Given the description of an element on the screen output the (x, y) to click on. 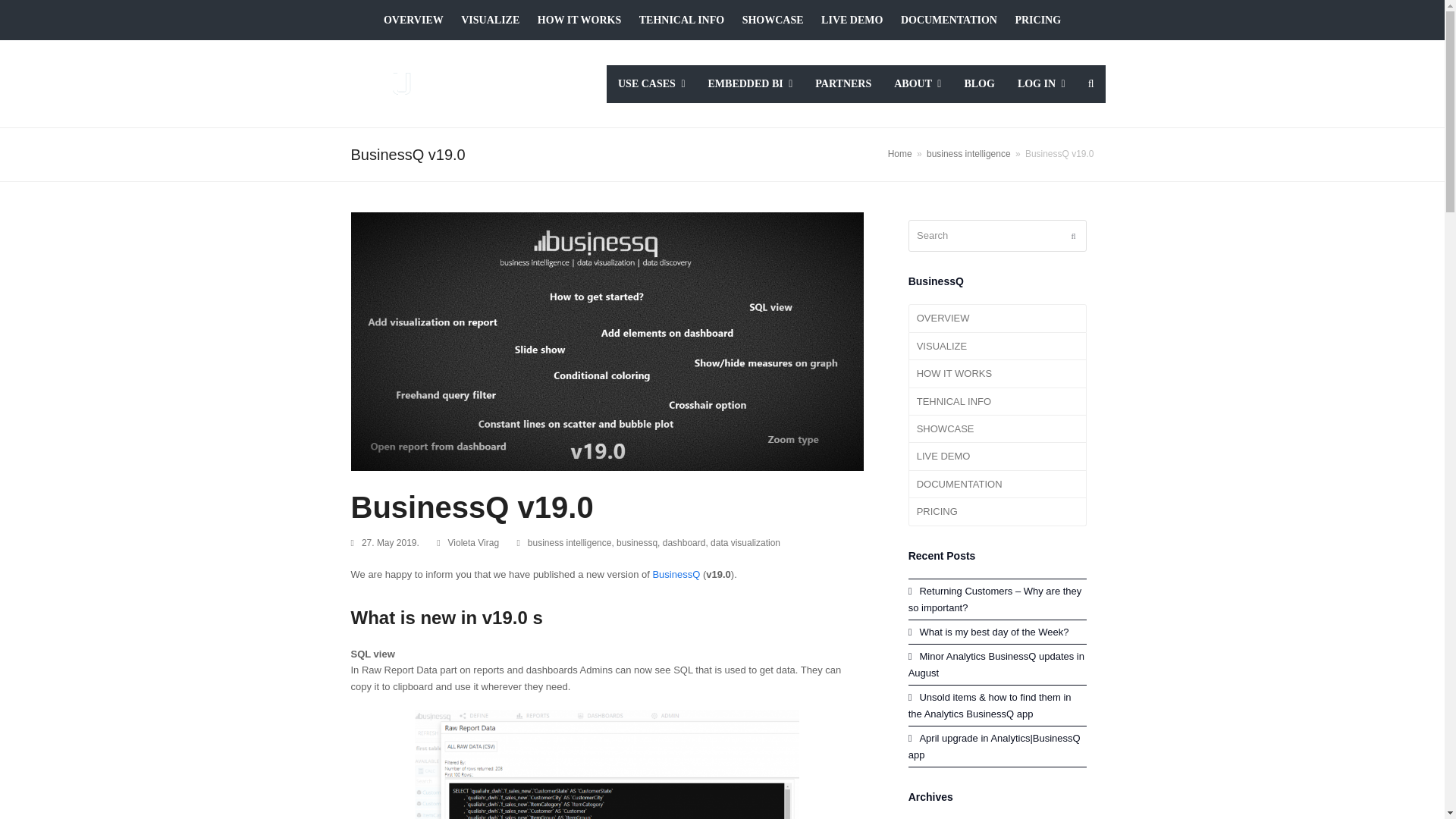
HOW IT WORKS (579, 19)
TEHNICAL INFO (681, 19)
EMBEDDED BI (749, 84)
VISUALIZE (490, 19)
ABOUT (917, 84)
PARTNERS (842, 84)
DOCUMENTATION (949, 19)
Posts by Violeta Virag (473, 542)
business intelligence (968, 153)
PRICING (1037, 19)
